Given the description of an element on the screen output the (x, y) to click on. 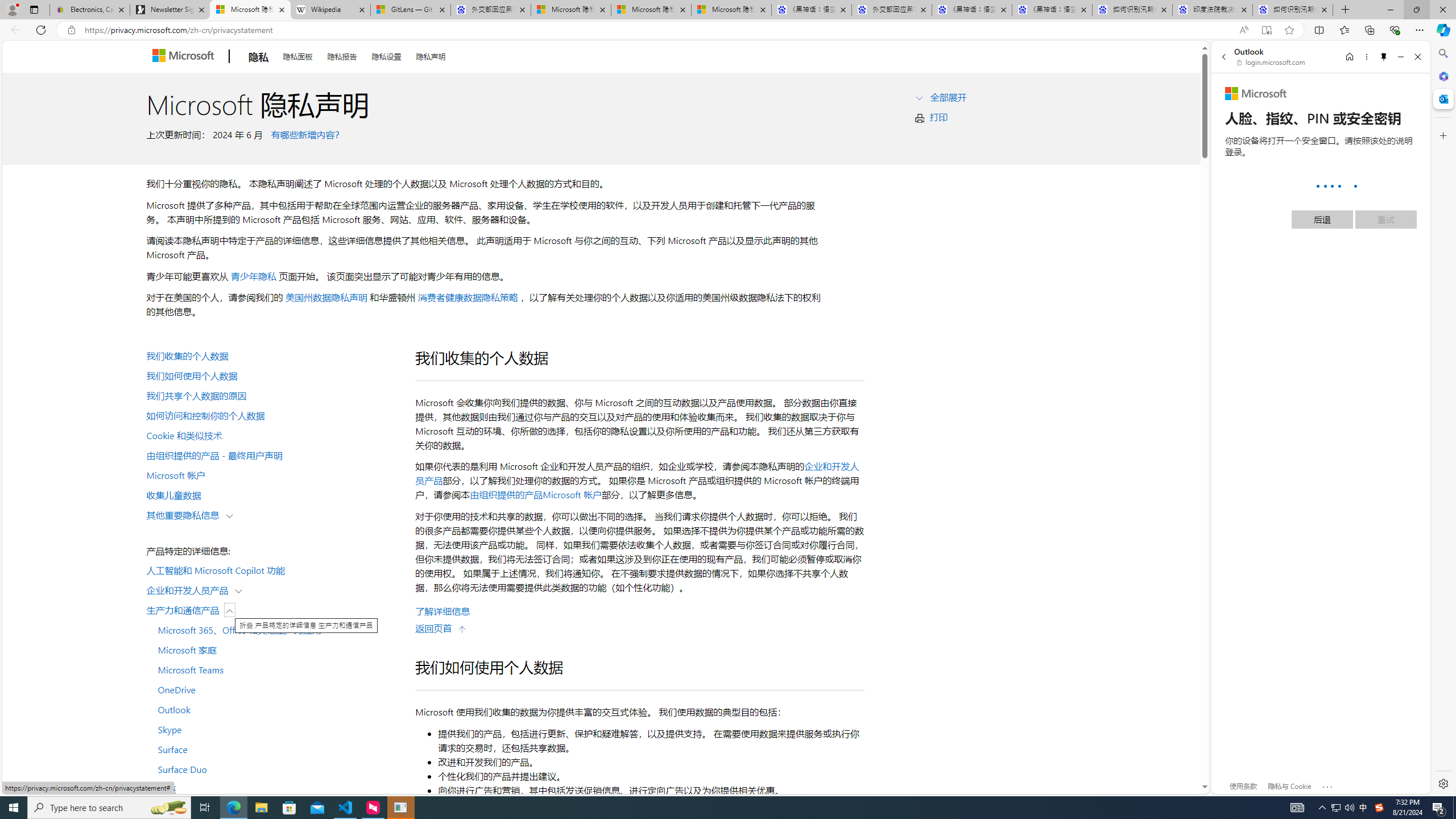
login.microsoft.com (1271, 61)
Skype (274, 728)
